Given the description of an element on the screen output the (x, y) to click on. 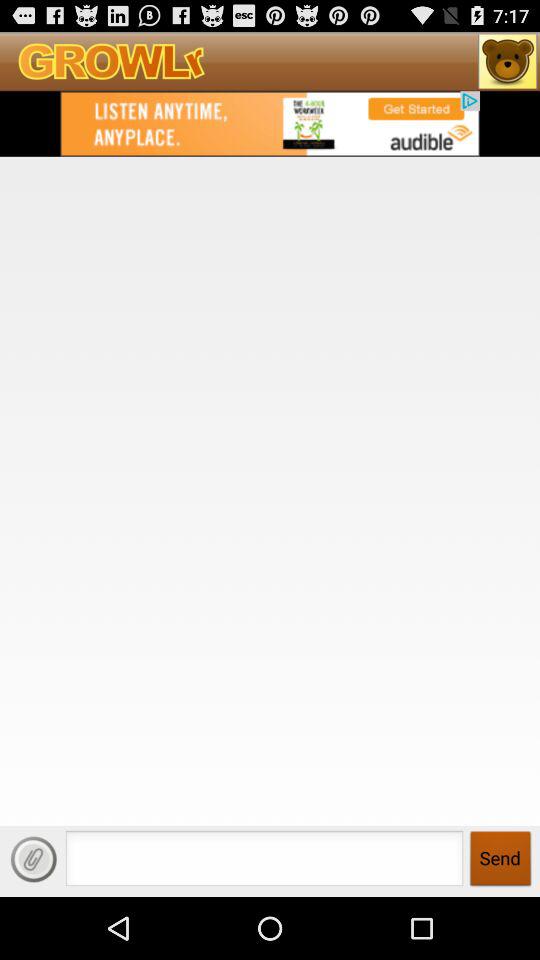
save the page (33, 859)
